Given the description of an element on the screen output the (x, y) to click on. 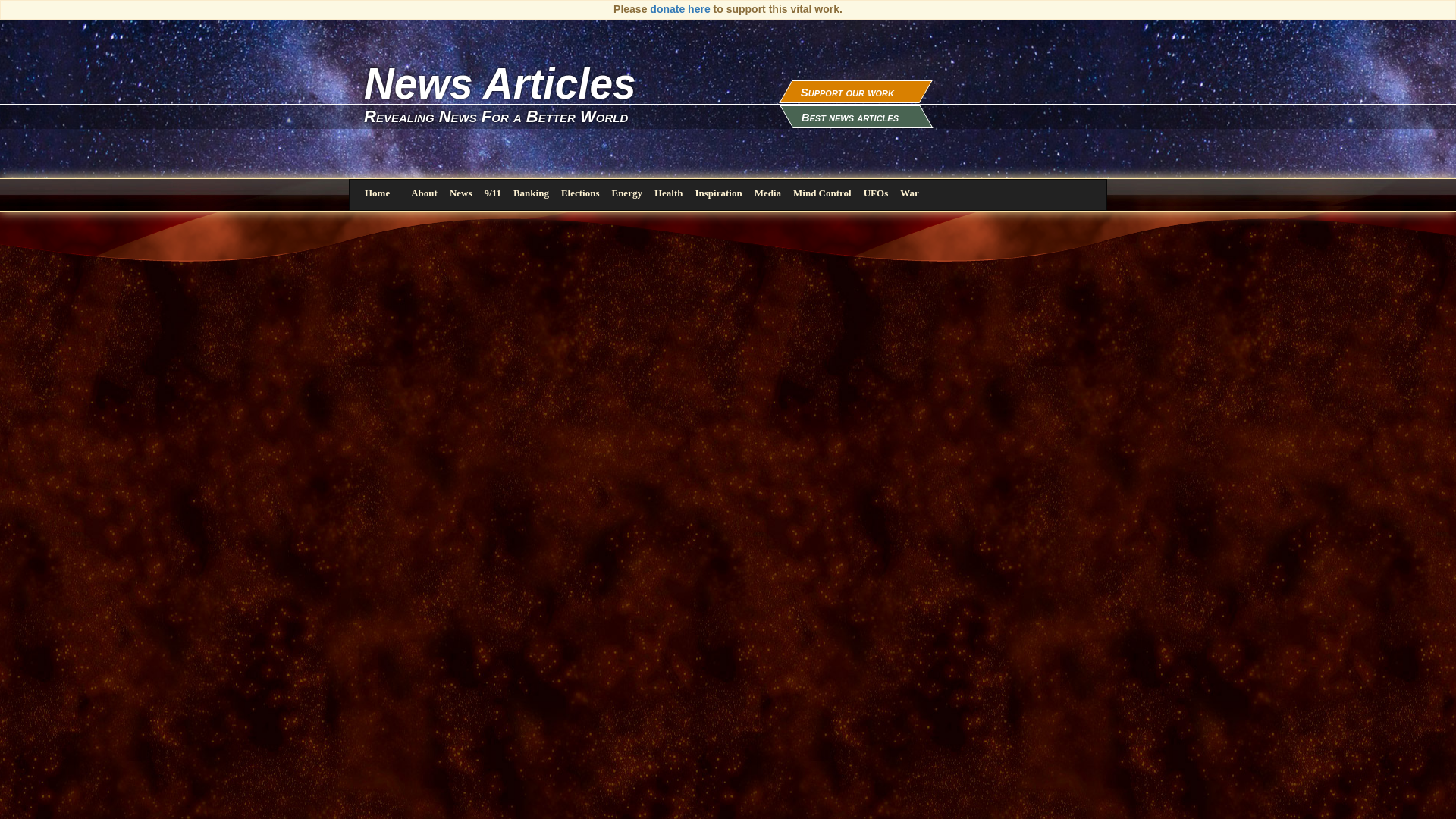
Support our work (846, 91)
Home (376, 194)
News (461, 193)
Best news articles (850, 116)
News Articles (727, 59)
donate here (679, 9)
About (424, 193)
